Given the description of an element on the screen output the (x, y) to click on. 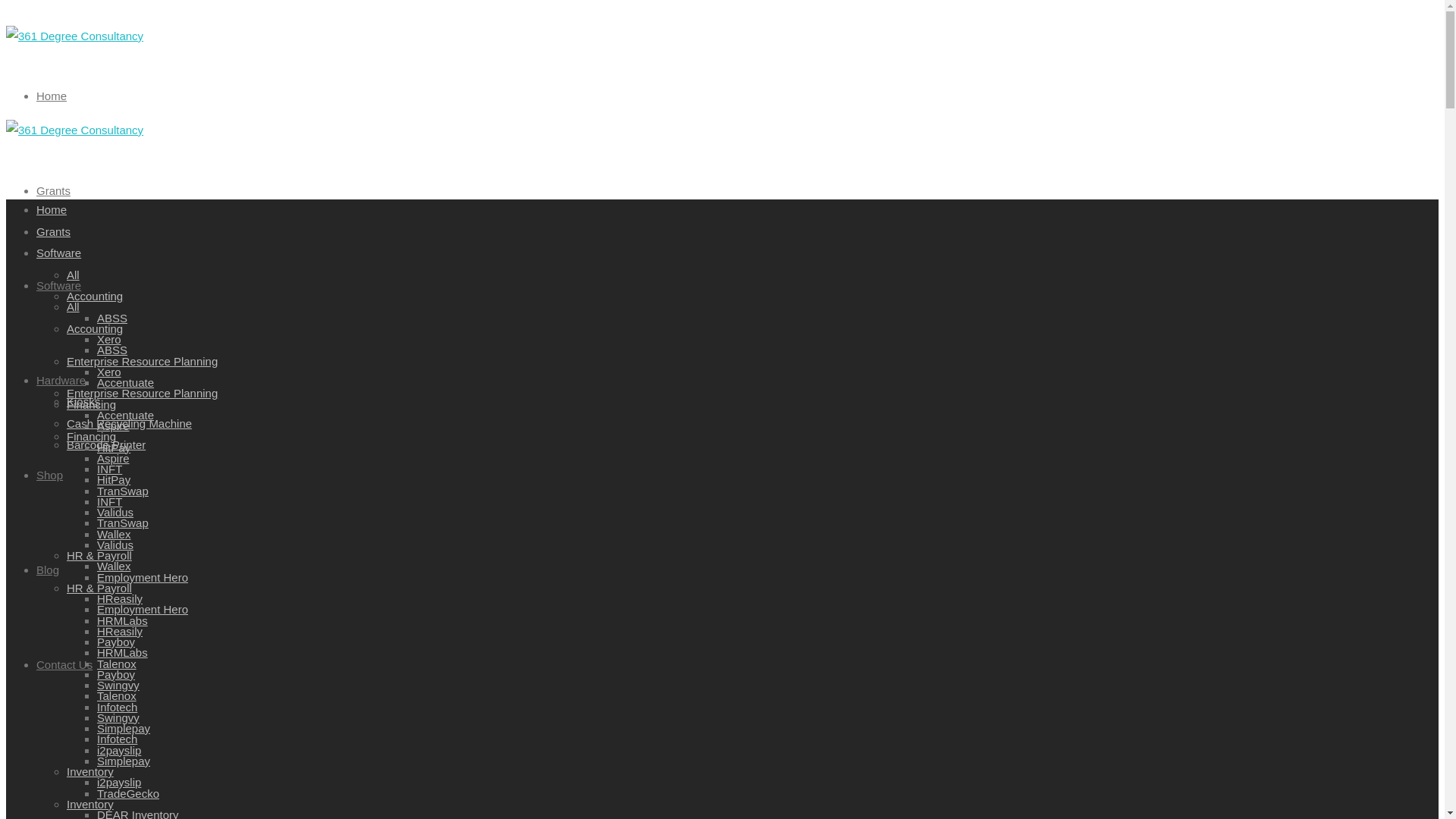
INFT Element type: text (109, 468)
Hardware Element type: text (60, 379)
All Element type: text (72, 274)
Aspire Element type: text (113, 425)
HReasily Element type: text (119, 598)
HR & Payroll Element type: text (98, 555)
Financing Element type: text (91, 403)
i2payslip Element type: text (119, 749)
Wallex Element type: text (113, 565)
Home Element type: text (51, 95)
Barcode Printer Element type: text (105, 444)
Payboy Element type: text (115, 673)
Xero Element type: text (109, 338)
TranSwap Element type: text (122, 522)
Accounting Element type: text (94, 327)
Enterprise Resource Planning Element type: text (141, 392)
Accentuate Element type: text (125, 382)
Accounting Element type: text (94, 295)
Financing Element type: text (91, 435)
Infotech Element type: text (117, 738)
TranSwap Element type: text (122, 489)
Employment Hero Element type: text (142, 576)
Enterprise Resource Planning Element type: text (141, 360)
Kiosks Element type: text (83, 401)
Inventory Element type: text (89, 803)
Payboy Element type: text (115, 641)
TradeGecko Element type: text (128, 793)
Talenox Element type: text (116, 695)
HRMLabs Element type: text (122, 652)
Home Element type: text (51, 209)
Grants Element type: text (53, 230)
HR & Payroll Element type: text (98, 586)
Wallex Element type: text (113, 533)
HReasily Element type: text (119, 630)
HRMLabs Element type: text (122, 620)
HitPay Element type: text (113, 479)
Aspire Element type: text (113, 457)
Shop Element type: text (49, 474)
ABSS Element type: text (112, 349)
Xero Element type: text (109, 371)
Simplepay Element type: text (123, 759)
Blog Element type: text (47, 568)
All Element type: text (72, 306)
ABSS Element type: text (112, 316)
Cash Recycling Machine Element type: text (128, 423)
Employment Hero Element type: text (142, 608)
INFT Element type: text (109, 500)
Swingvy Element type: text (118, 684)
Grants Element type: text (53, 189)
Simplepay Element type: text (123, 727)
Software Element type: text (58, 285)
Swingvy Element type: text (118, 717)
Validus Element type: text (115, 544)
Software Element type: text (58, 252)
Contact Us Element type: text (64, 664)
Accentuate Element type: text (125, 413)
Infotech Element type: text (117, 706)
Inventory Element type: text (89, 771)
i2payslip Element type: text (119, 781)
HitPay Element type: text (113, 447)
Talenox Element type: text (116, 662)
Validus Element type: text (115, 511)
